Given the description of an element on the screen output the (x, y) to click on. 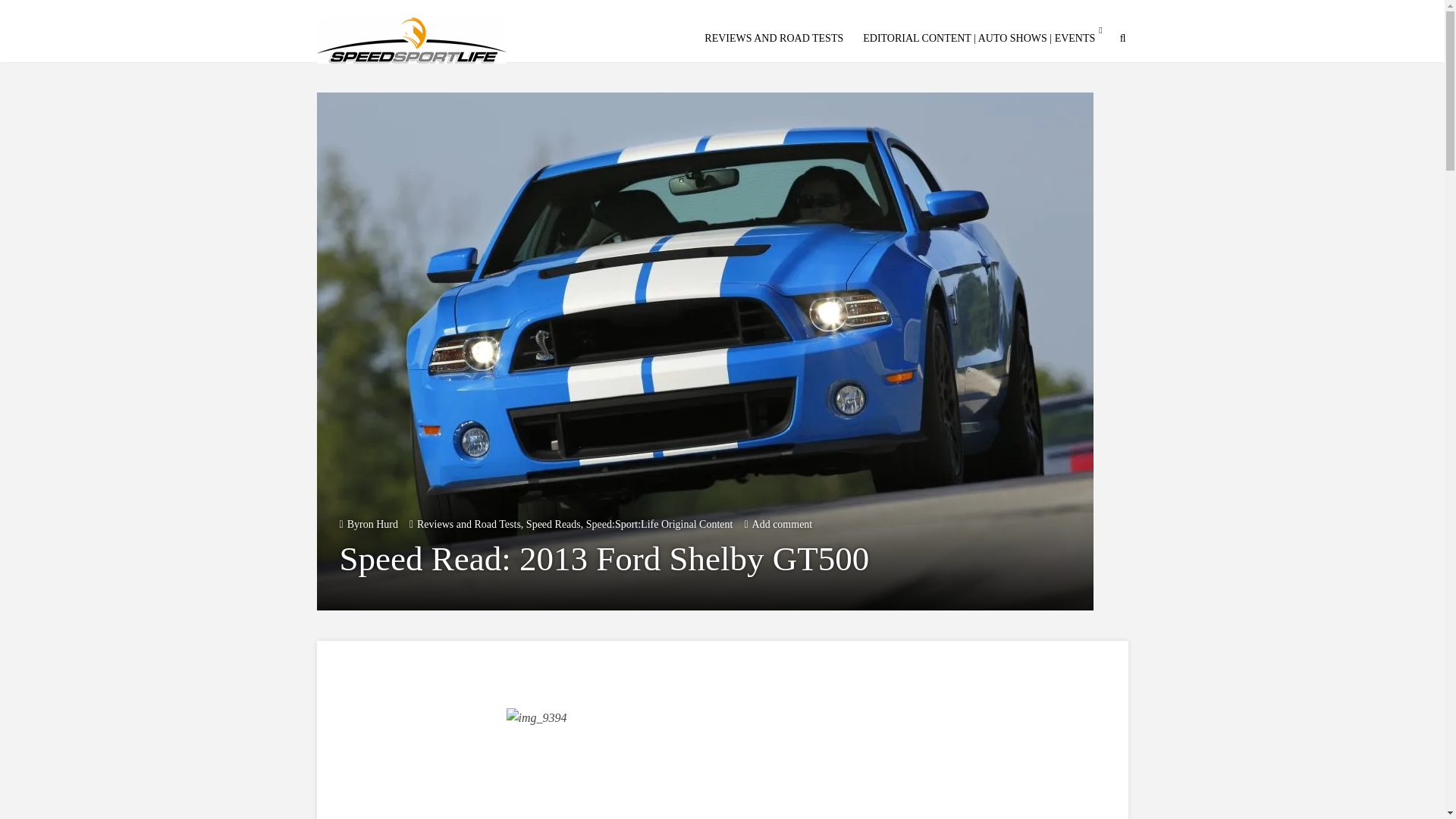
Add comment (782, 523)
REVIEWS AND ROAD TESTS (773, 38)
Speed Reads (552, 523)
Reviews and Road Tests (468, 523)
Byron Hurd (372, 523)
Speed:Sport:Life (411, 37)
Speed:Sport:Life Original Content (659, 523)
